Given the description of an element on the screen output the (x, y) to click on. 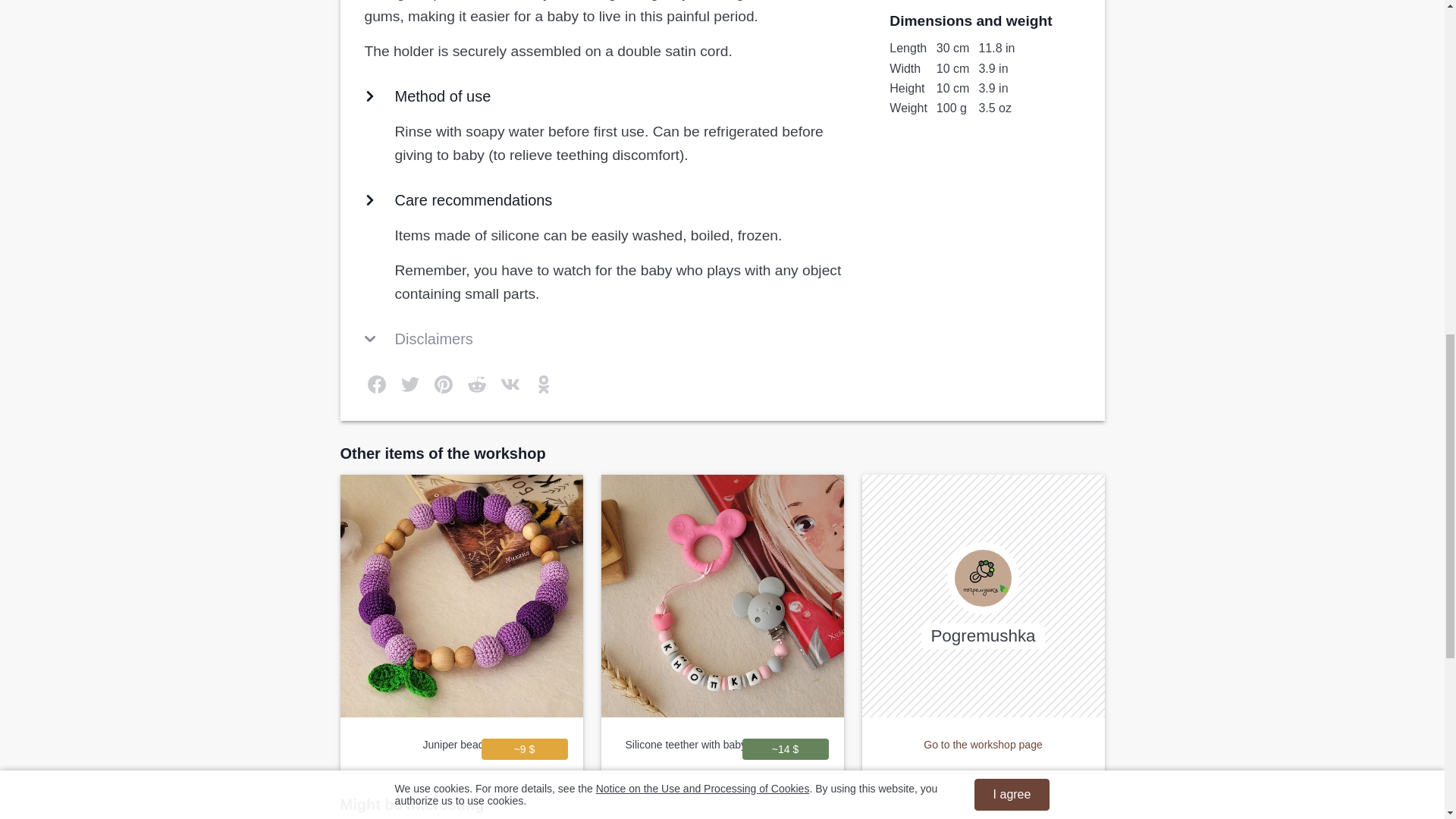
Go to the workshop page (982, 744)
On order. Proceed to creating an order (523, 749)
In stock. Proceed to checkout (784, 749)
Tweet (409, 384)
